Given the description of an element on the screen output the (x, y) to click on. 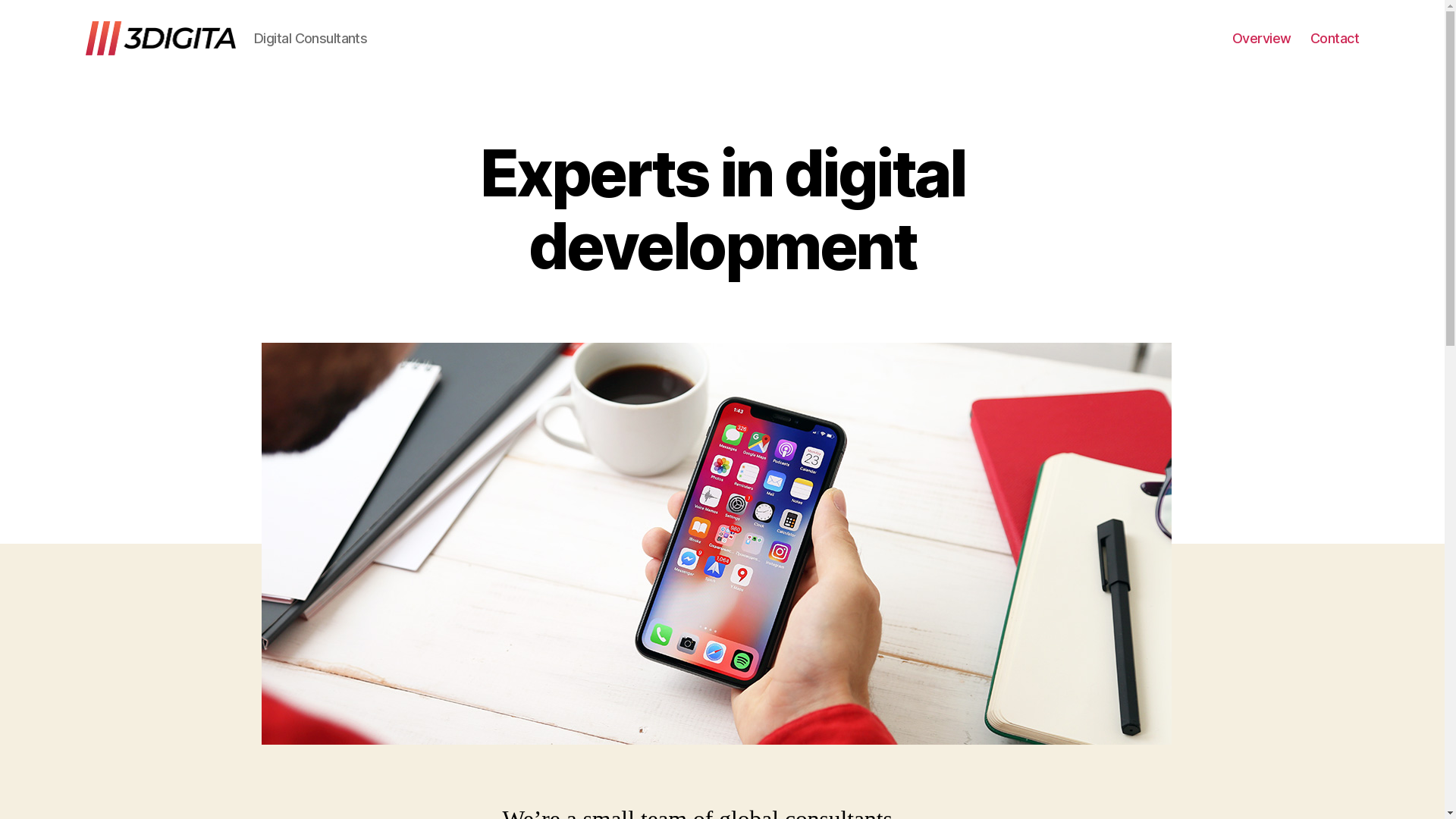
Overview Element type: text (1261, 38)
Contact Element type: text (1334, 38)
